Given the description of an element on the screen output the (x, y) to click on. 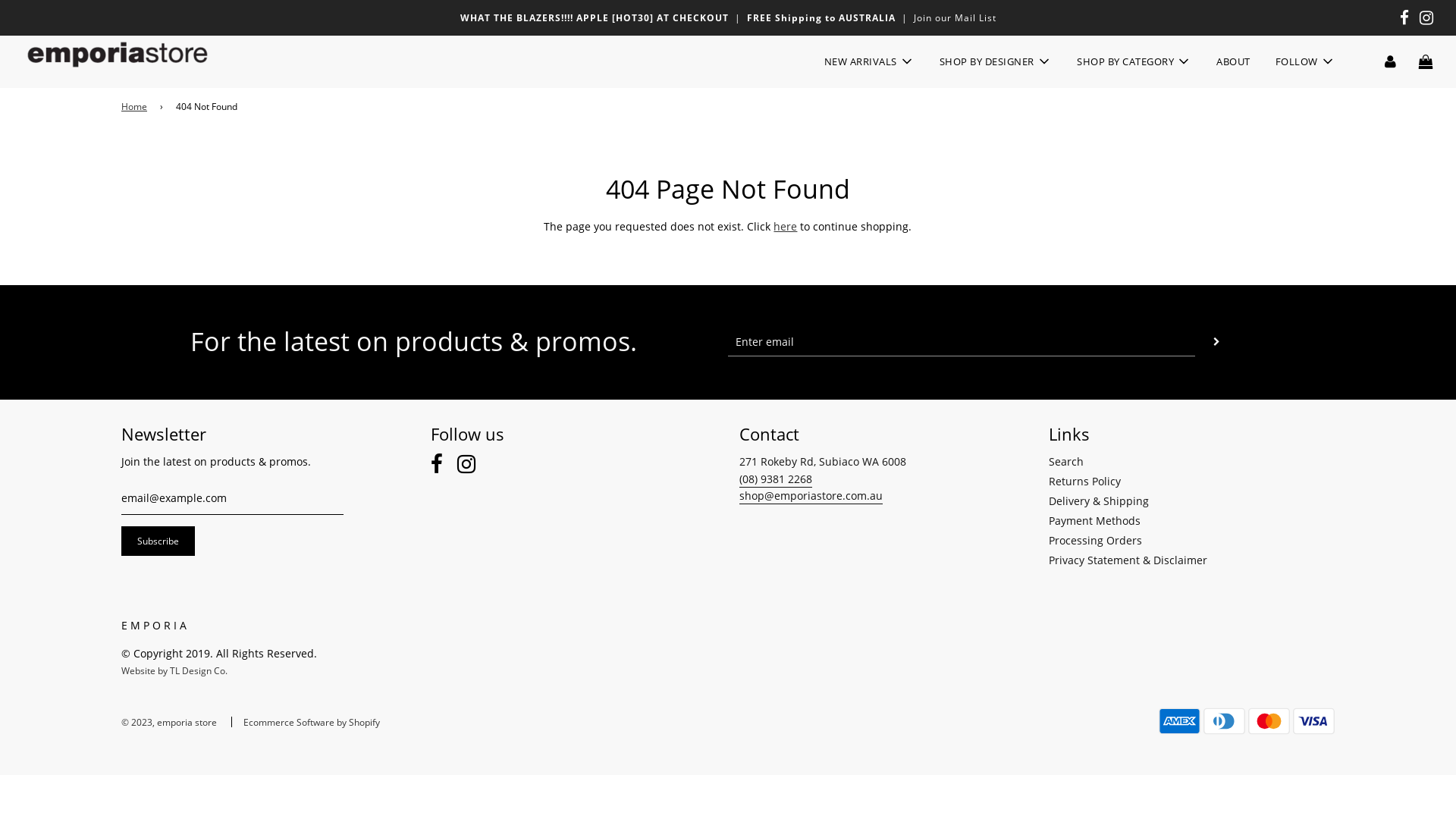
ABOUT Element type: text (1232, 61)
here Element type: text (785, 226)
FOLLOW Element type: text (1305, 60)
Returns Policy Element type: text (1084, 480)
(08) 9381 2268 Element type: text (775, 479)
Privacy Statement & Disclaimer Element type: text (1127, 559)
Ecommerce Software by Shopify Element type: text (311, 721)
Payment Methods Element type: text (1093, 520)
Log in Element type: hover (1390, 60)
Join our Mail List Element type: text (954, 17)
Website by TL Design Co. Element type: text (174, 670)
Processing Orders Element type: text (1094, 540)
Subscribe Element type: text (157, 540)
NEW ARRIVALS Element type: text (868, 60)
shop@emporiastore.com.au Element type: text (810, 496)
Search Element type: text (1065, 461)
Delivery & Shipping Element type: text (1098, 500)
SHOP BY CATEGORY Element type: text (1133, 60)
Home Element type: text (136, 106)
SHOP BY DESIGNER Element type: text (995, 60)
